Given the description of an element on the screen output the (x, y) to click on. 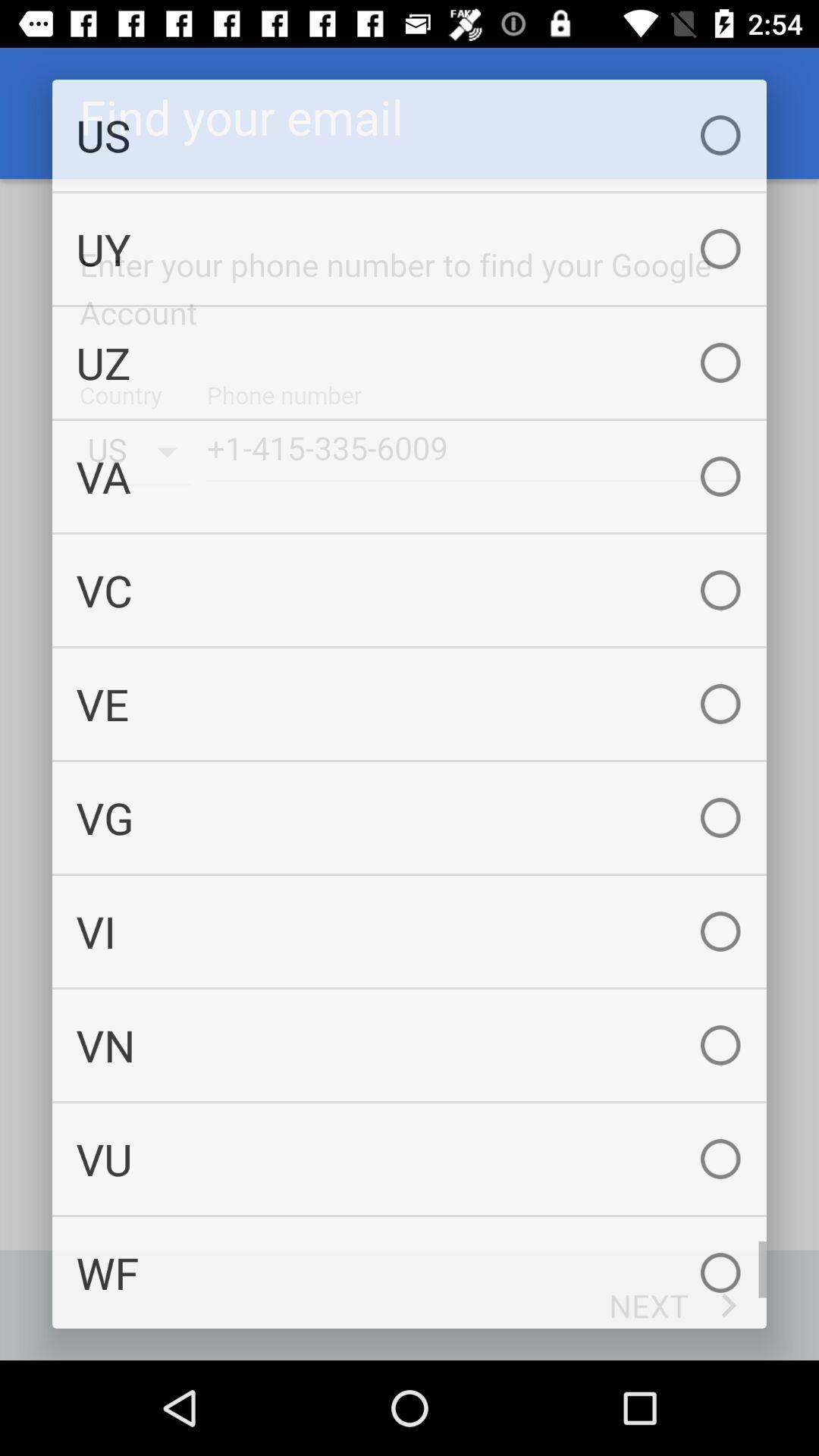
select icon above the ve (409, 590)
